Given the description of an element on the screen output the (x, y) to click on. 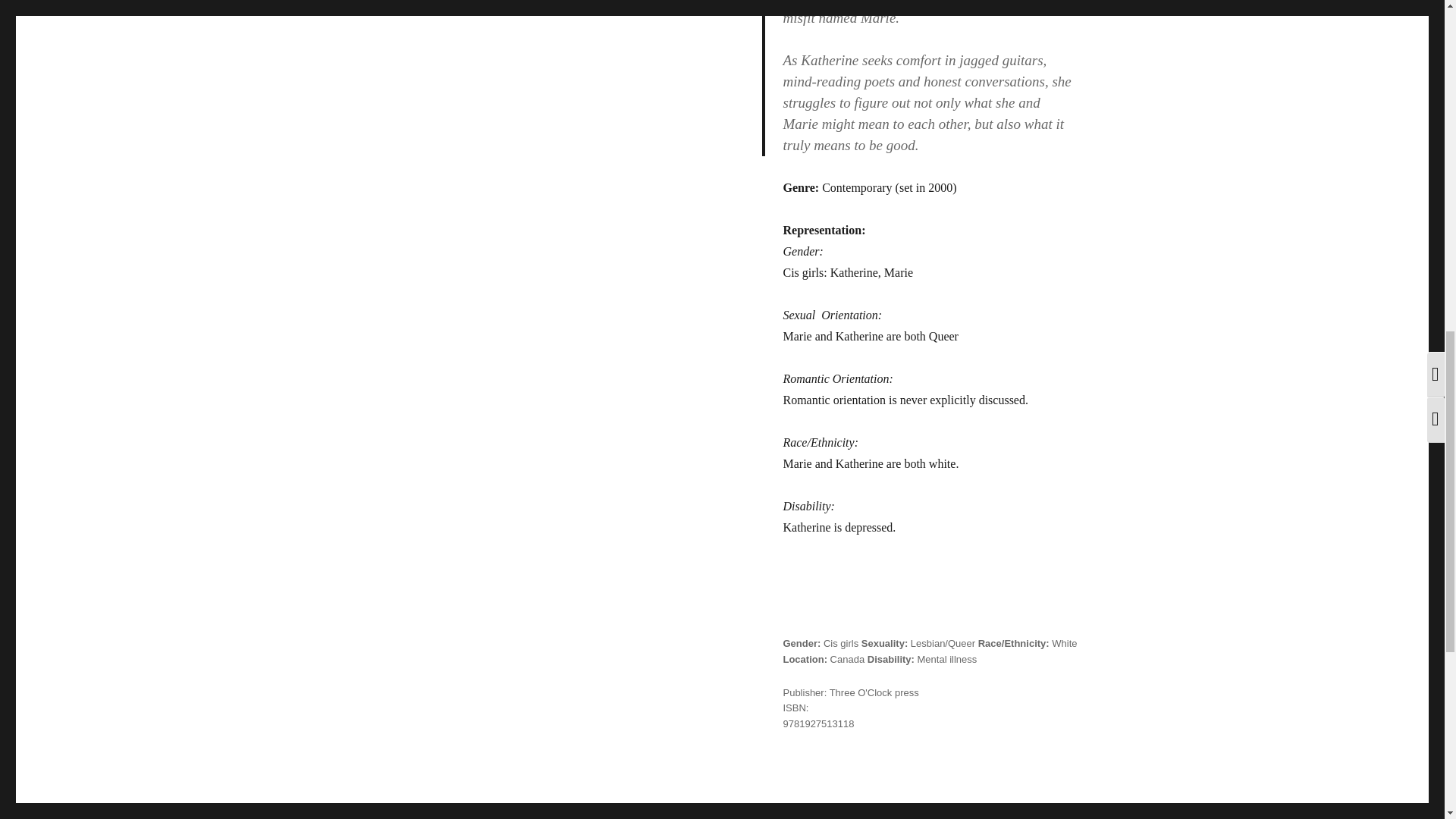
Cis girls (841, 643)
Mental illness (946, 659)
Canada (846, 659)
White (1064, 643)
